Given the description of an element on the screen output the (x, y) to click on. 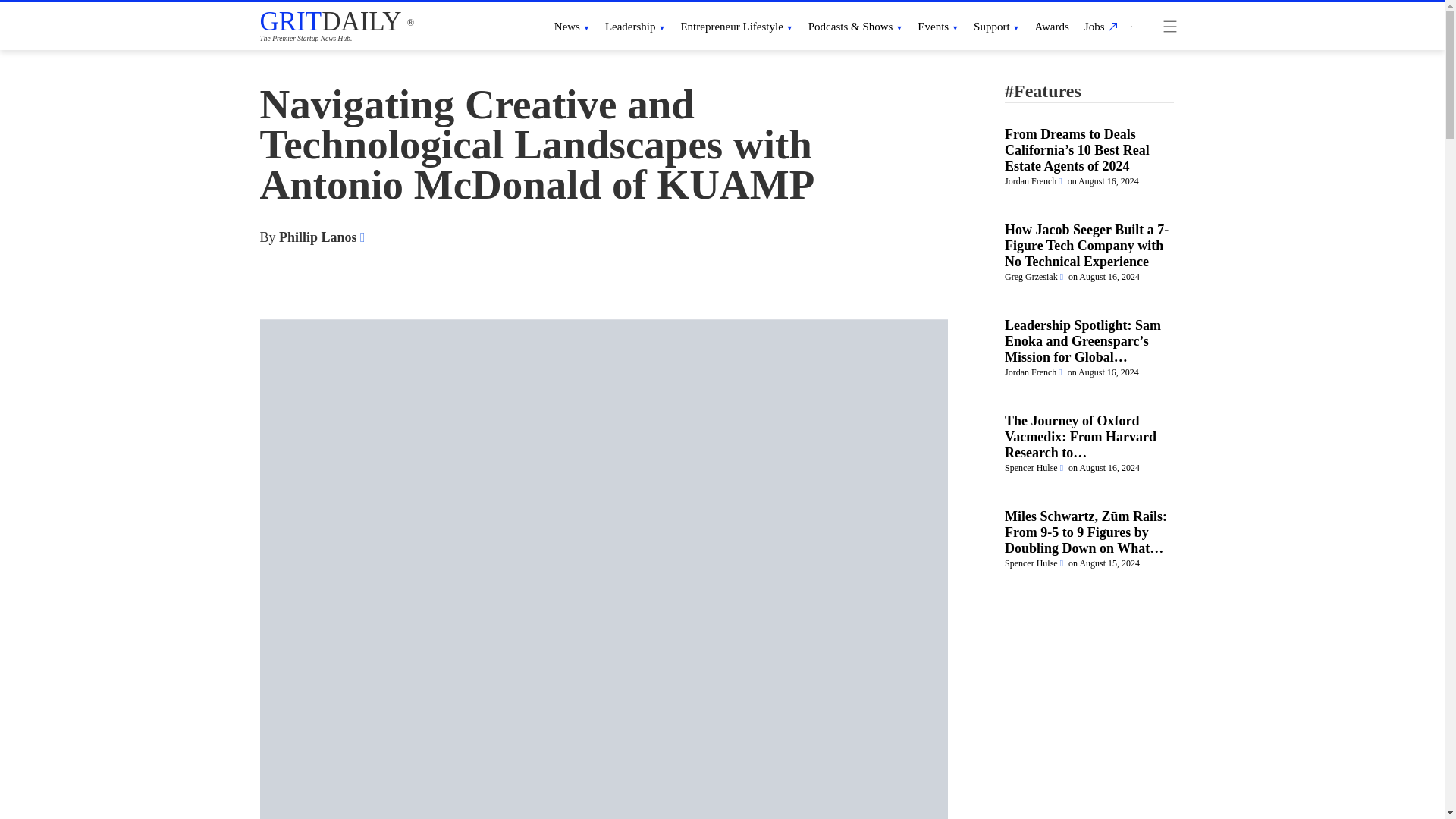
Entrepreneur Lifestyle (735, 25)
Events (937, 25)
Support (996, 25)
Jobs (1098, 25)
Leadership (635, 25)
News (571, 25)
Awards (1051, 25)
